Given the description of an element on the screen output the (x, y) to click on. 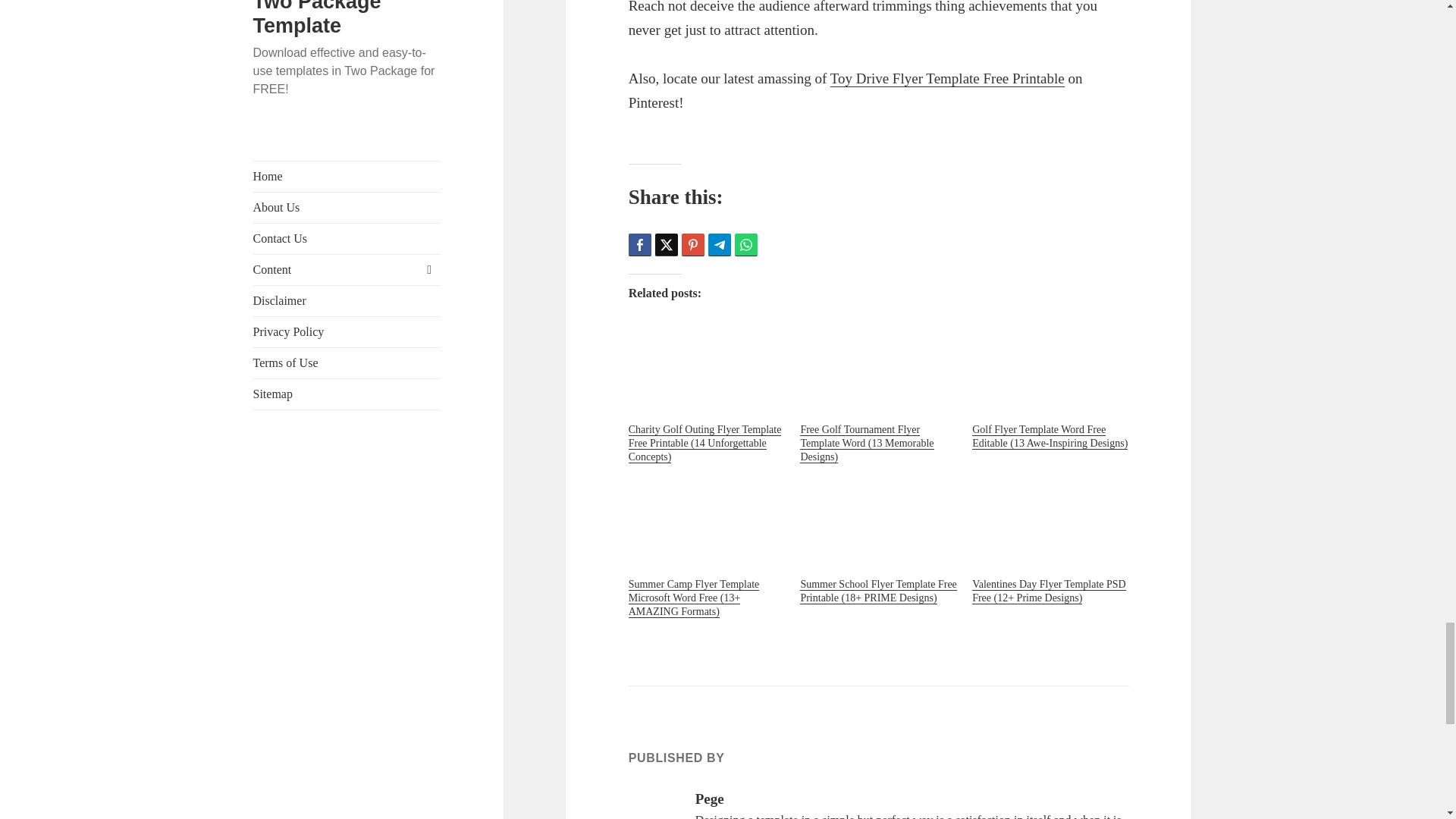
Tweet this (666, 244)
Toy Drive Flyer Template Free Printable (946, 78)
Pin this (692, 244)
Telegram Share (718, 244)
Whatsapp (746, 244)
Share this (639, 244)
